Given the description of an element on the screen output the (x, y) to click on. 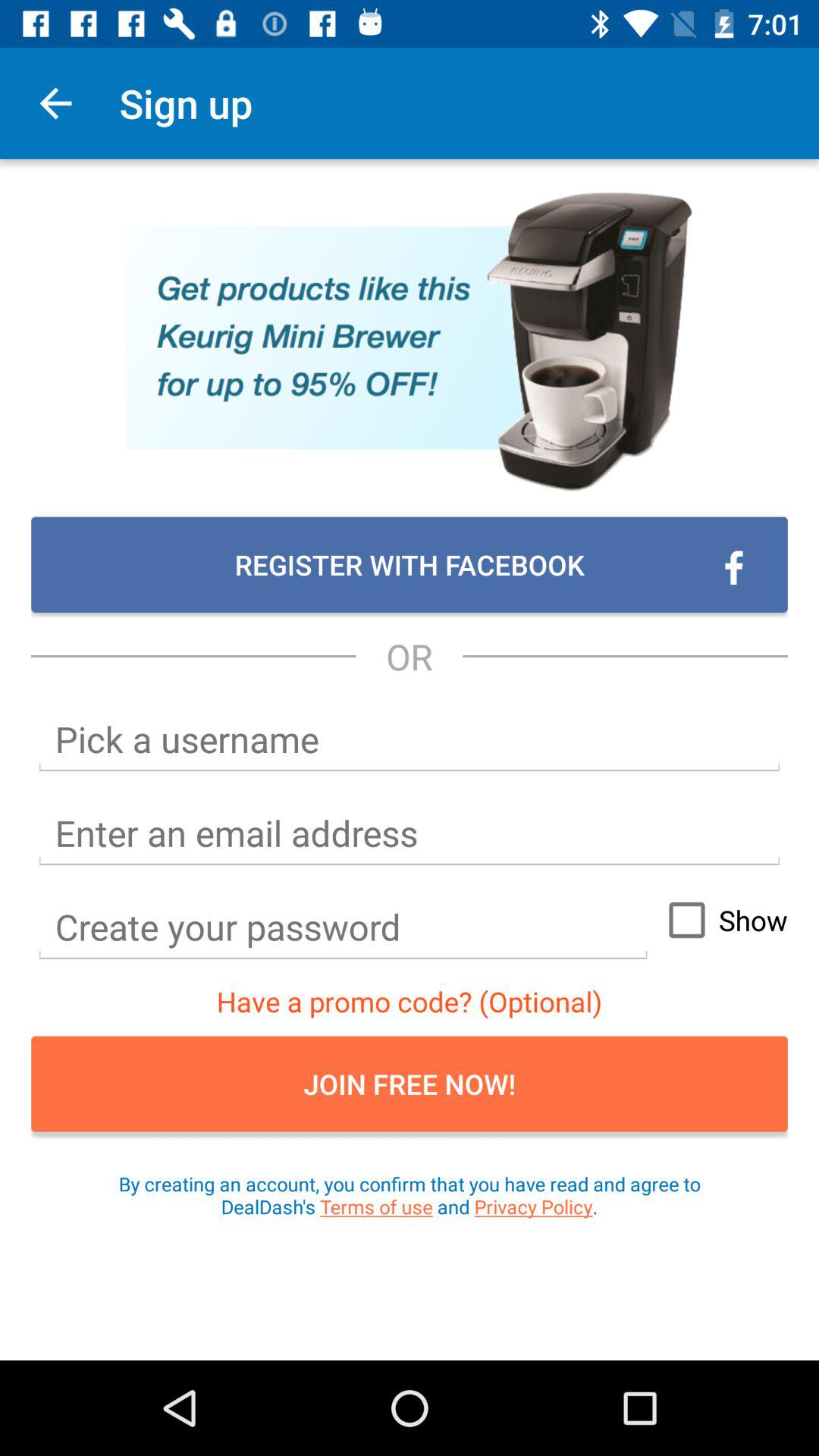
pick a username (409, 739)
